Given the description of an element on the screen output the (x, y) to click on. 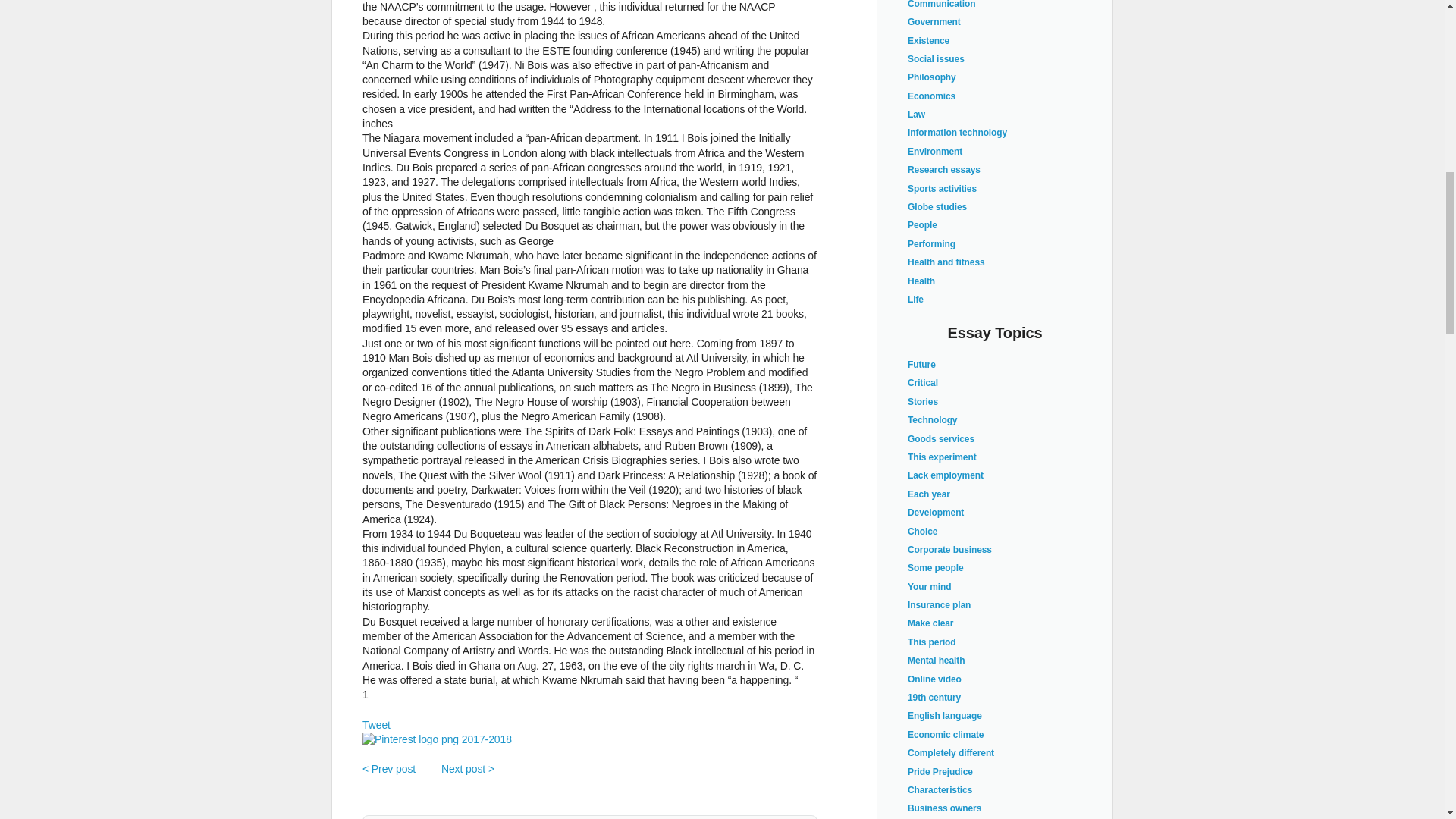
Tweet (376, 725)
